Given the description of an element on the screen output the (x, y) to click on. 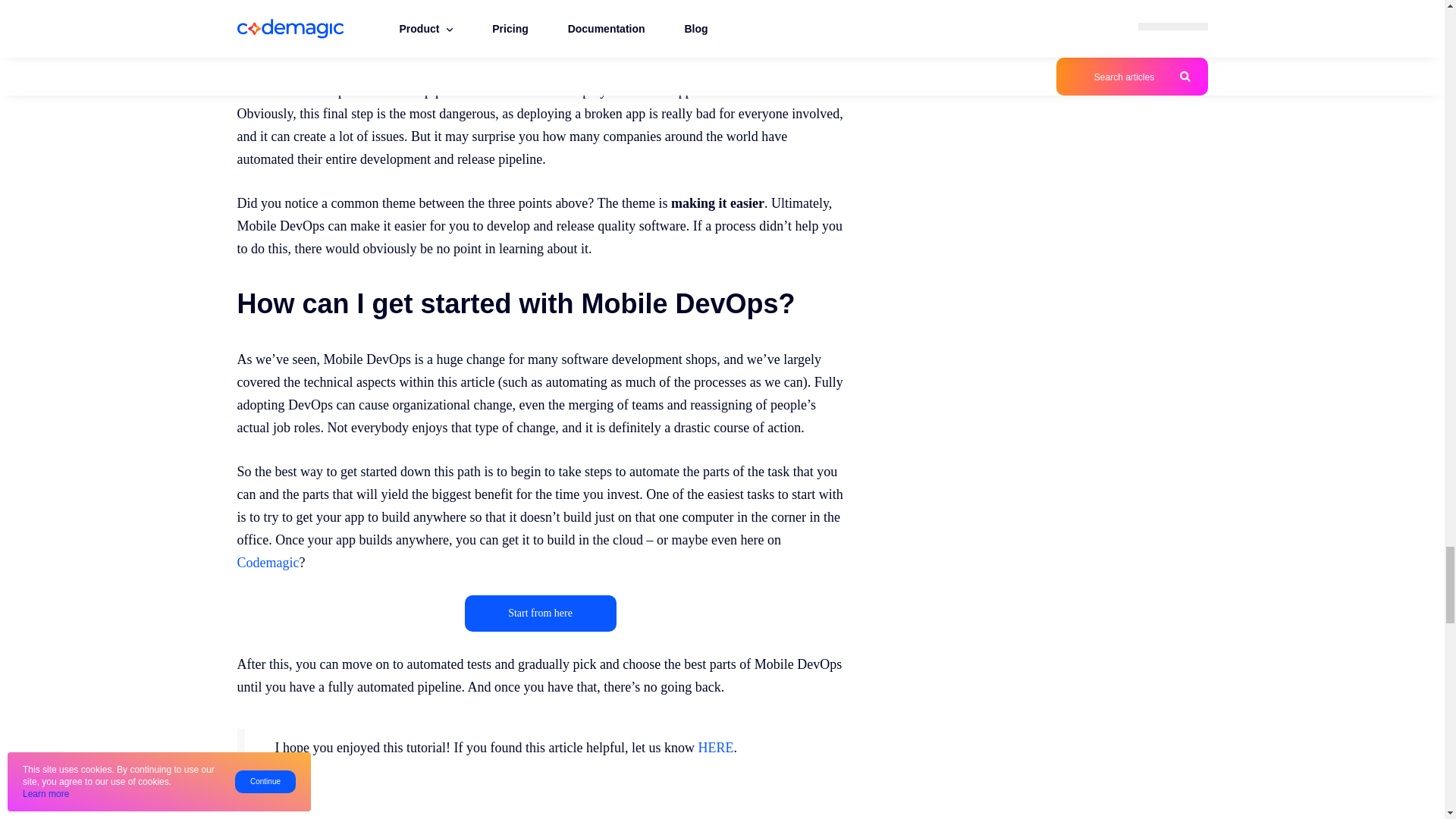
Start from here (539, 613)
Codemagic (266, 562)
